Given the description of an element on the screen output the (x, y) to click on. 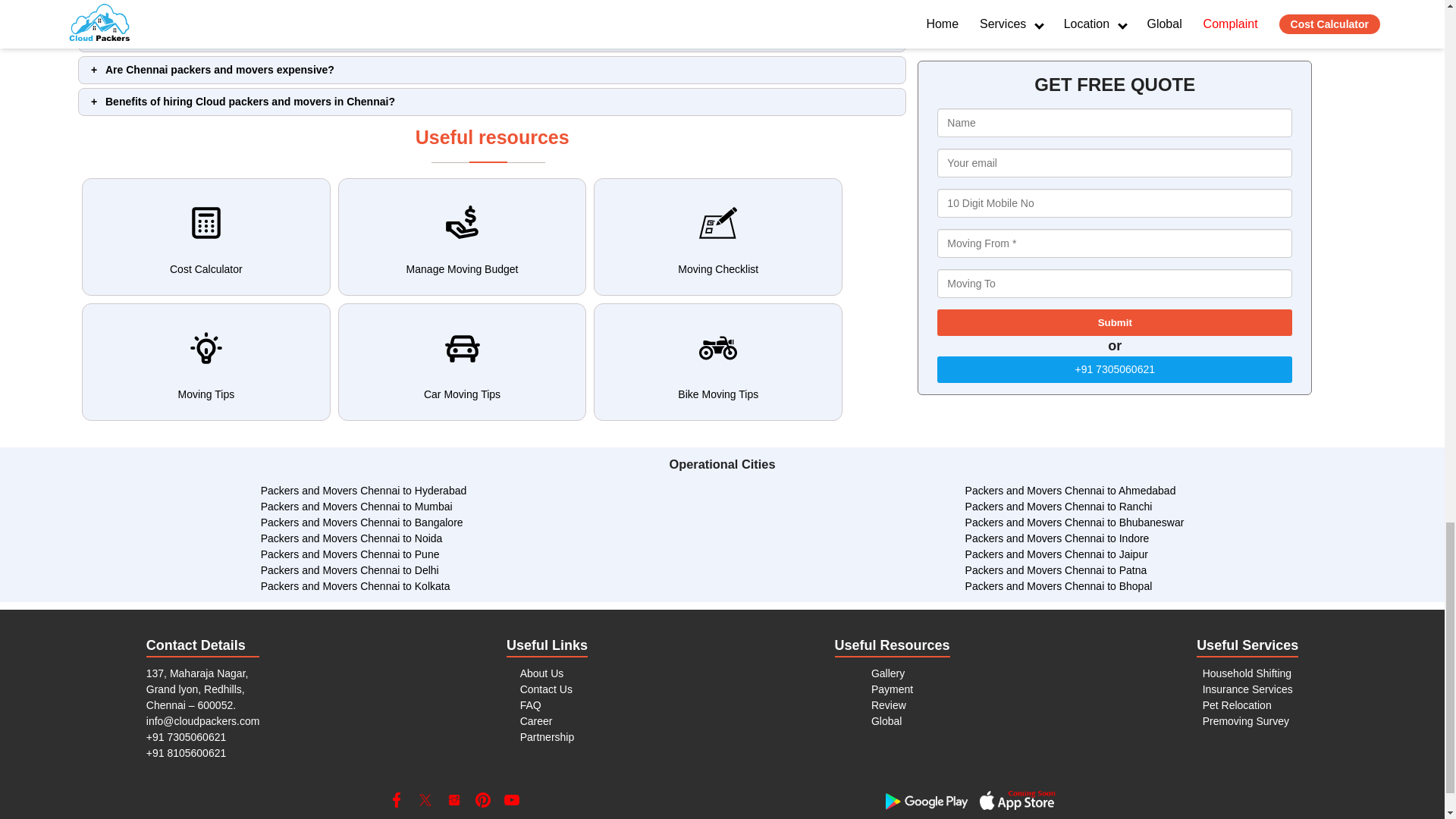
Car Moving Tips (461, 361)
Packers and Movers Chennai to Ahmedabad (1070, 490)
Packers and Movers Chennai to Pune (349, 553)
Packers and Movers Chennai to Hyderabad (363, 490)
Packers and Movers Chennai to Kolkata (354, 585)
Packers and Movers Chennai to Noida (351, 538)
Packers and Movers Chennai to Bhubaneswar (1075, 522)
instagram (453, 799)
Manage Moving Budget (461, 236)
Moving Tips (205, 361)
Packers and Movers Chennai to Delhi (349, 570)
Moving Checklist (718, 236)
Packers and Movers Chennai to Ranchi (1059, 506)
Packers and Movers Chennai to Bangalore (361, 522)
Packers and Movers Chennai to Mumbai (356, 506)
